Given the description of an element on the screen output the (x, y) to click on. 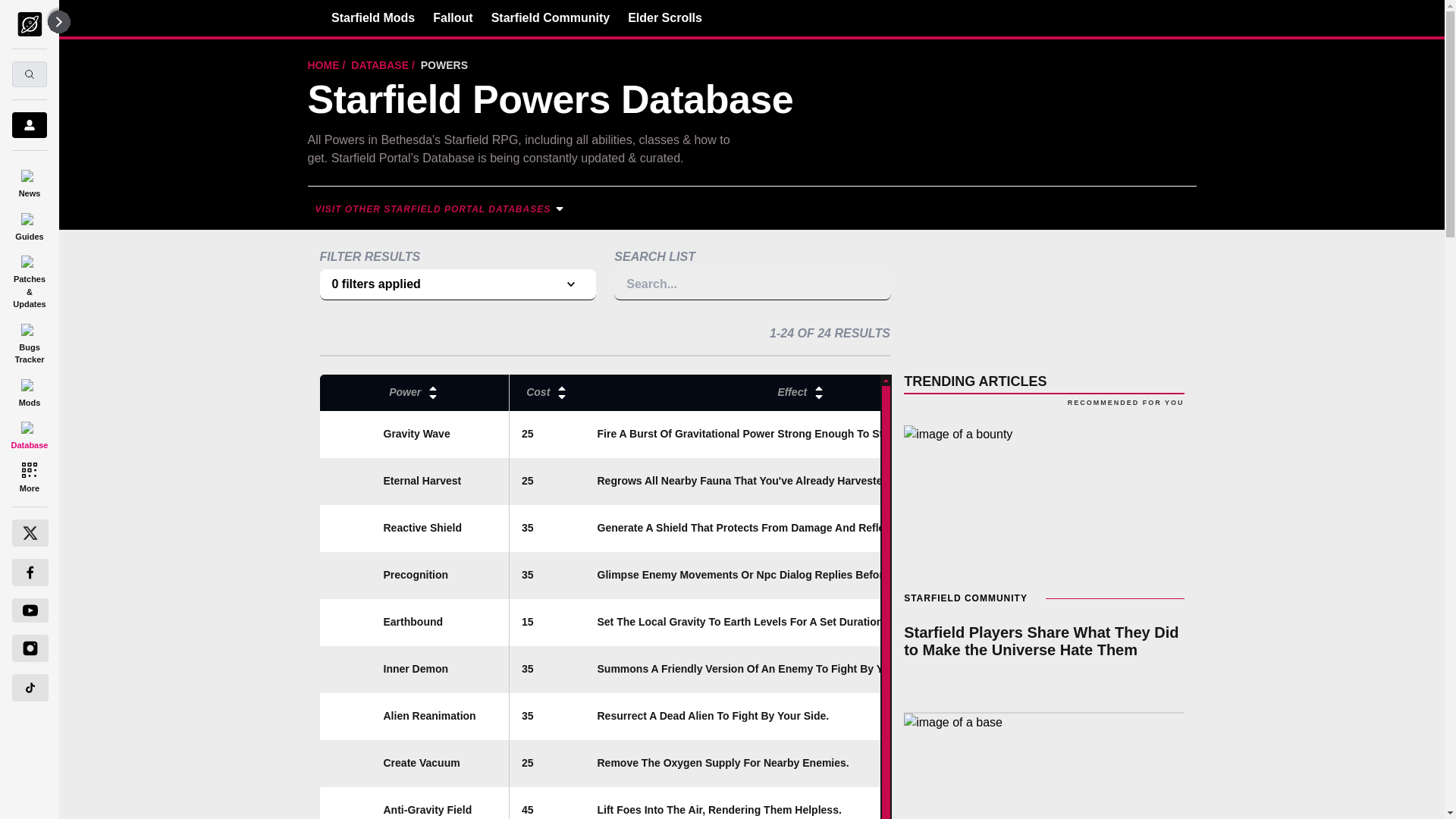
Elder Scrolls (664, 18)
Starfield Community (551, 18)
Guides (28, 224)
Starfield Mods (372, 18)
News (28, 180)
Mods (28, 389)
Database (28, 433)
Fallout (451, 18)
